Given the description of an element on the screen output the (x, y) to click on. 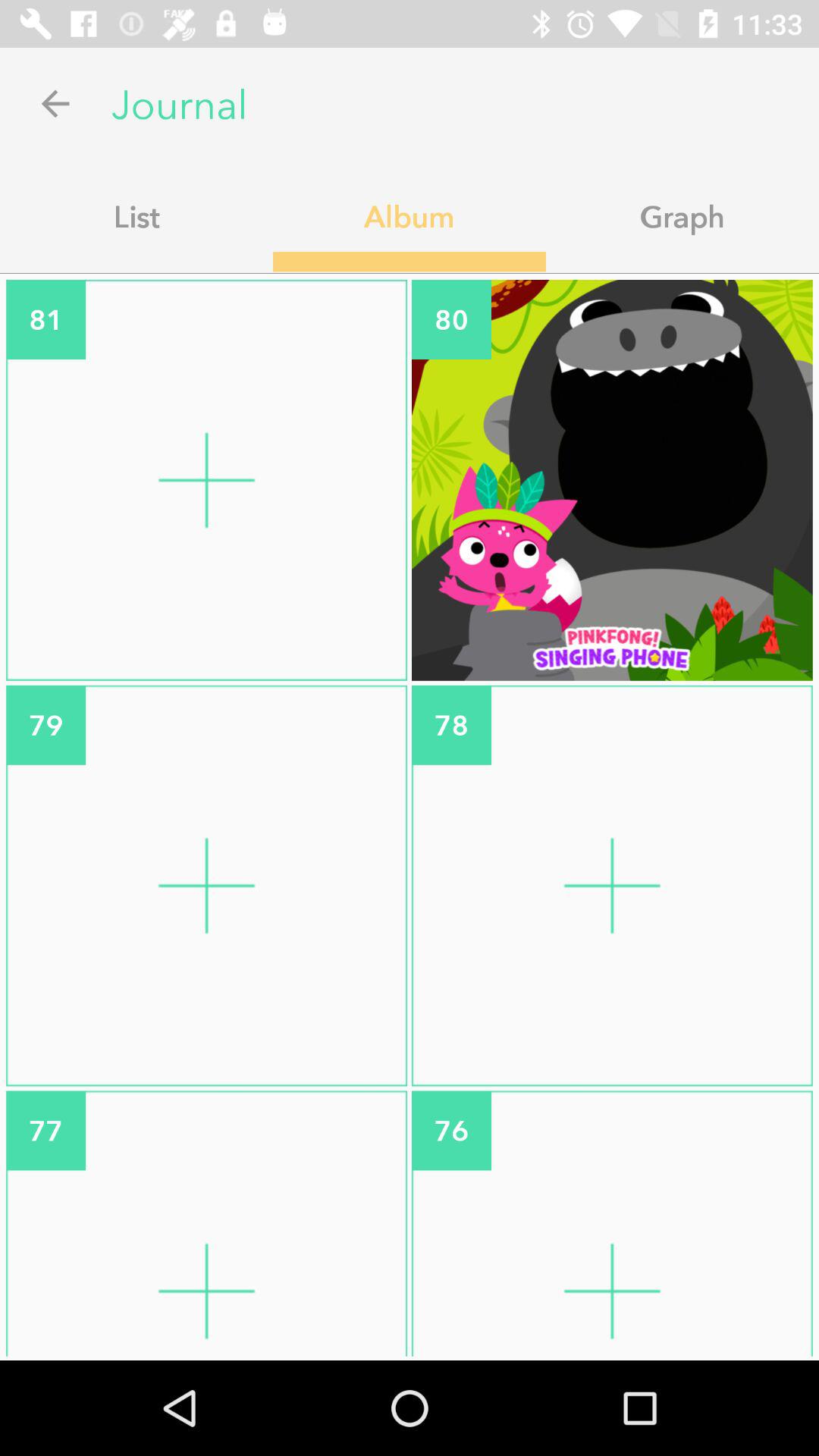
open icon to the left of graph icon (409, 216)
